Given the description of an element on the screen output the (x, y) to click on. 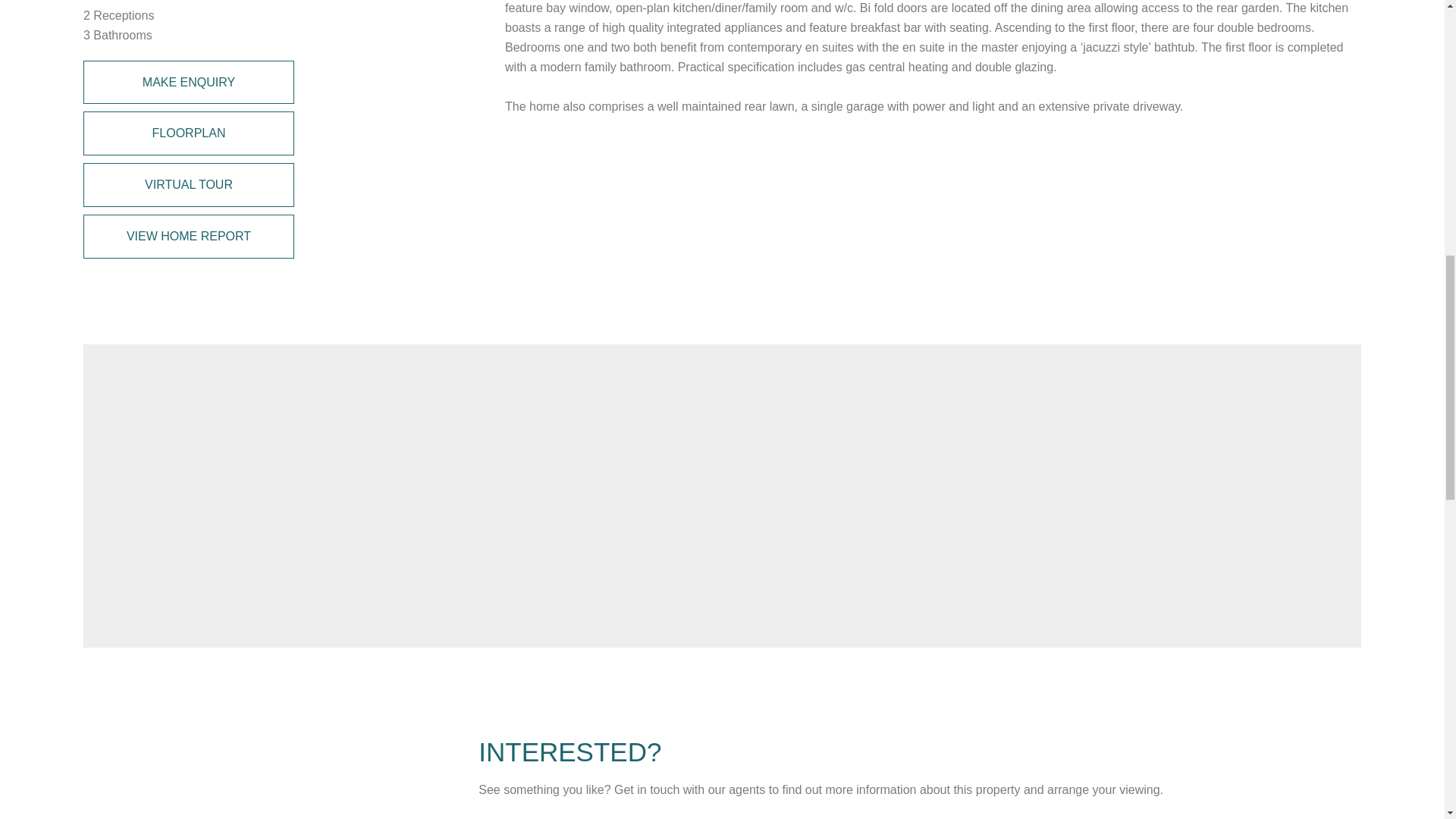
VIEW HOME REPORT (188, 236)
VIRTUAL TOUR (188, 184)
FLOORPLAN (188, 133)
MAKE ENQUIRY (188, 82)
